Given the description of an element on the screen output the (x, y) to click on. 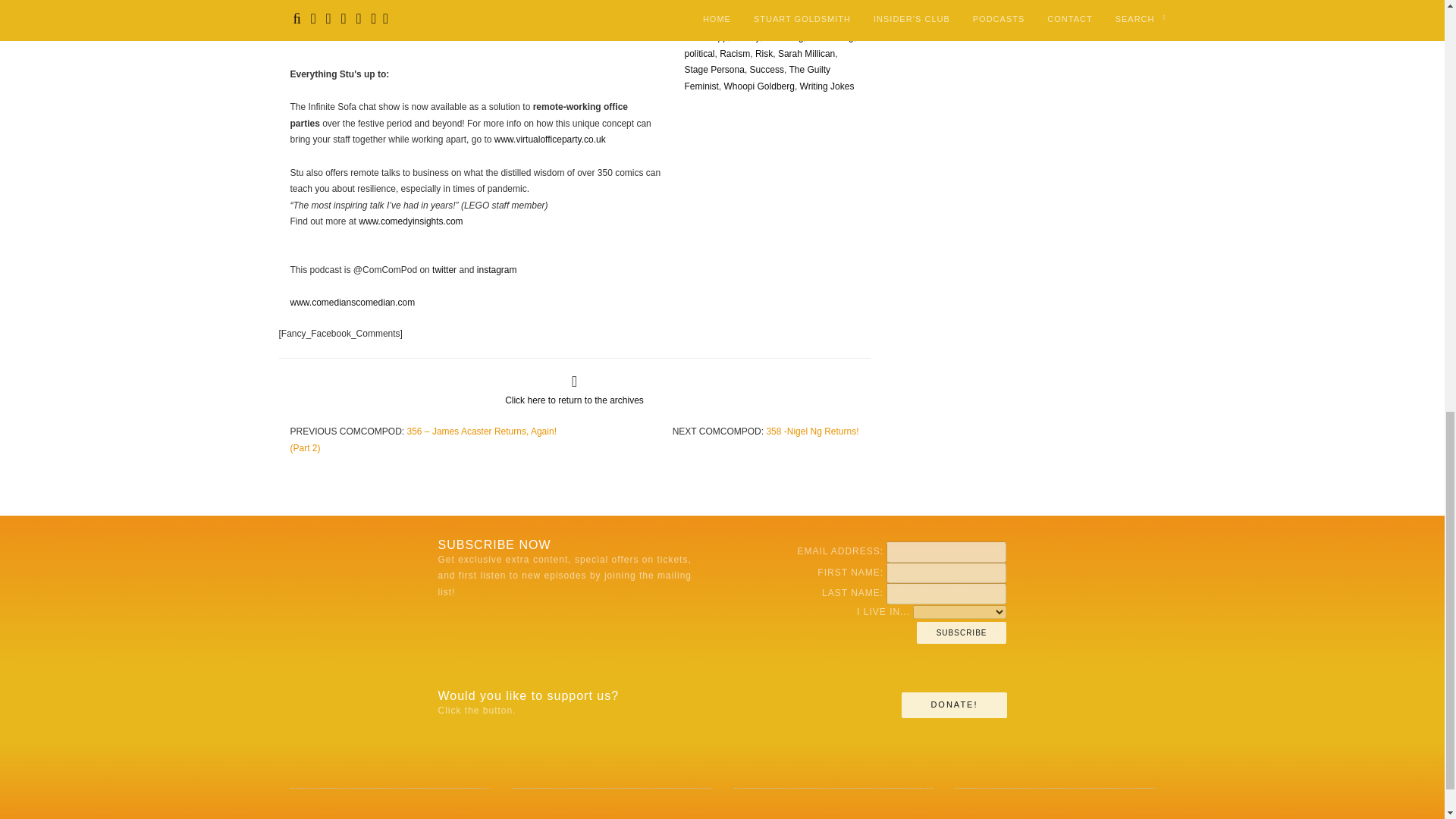
instagram (496, 269)
www.comedyinsights.com (410, 221)
www.comedianscomedian.com (351, 302)
www.virtualofficeparty.co.uk (550, 139)
Subscribe (962, 632)
Keeping Athena Company (456, 17)
twitter (444, 269)
